Given the description of an element on the screen output the (x, y) to click on. 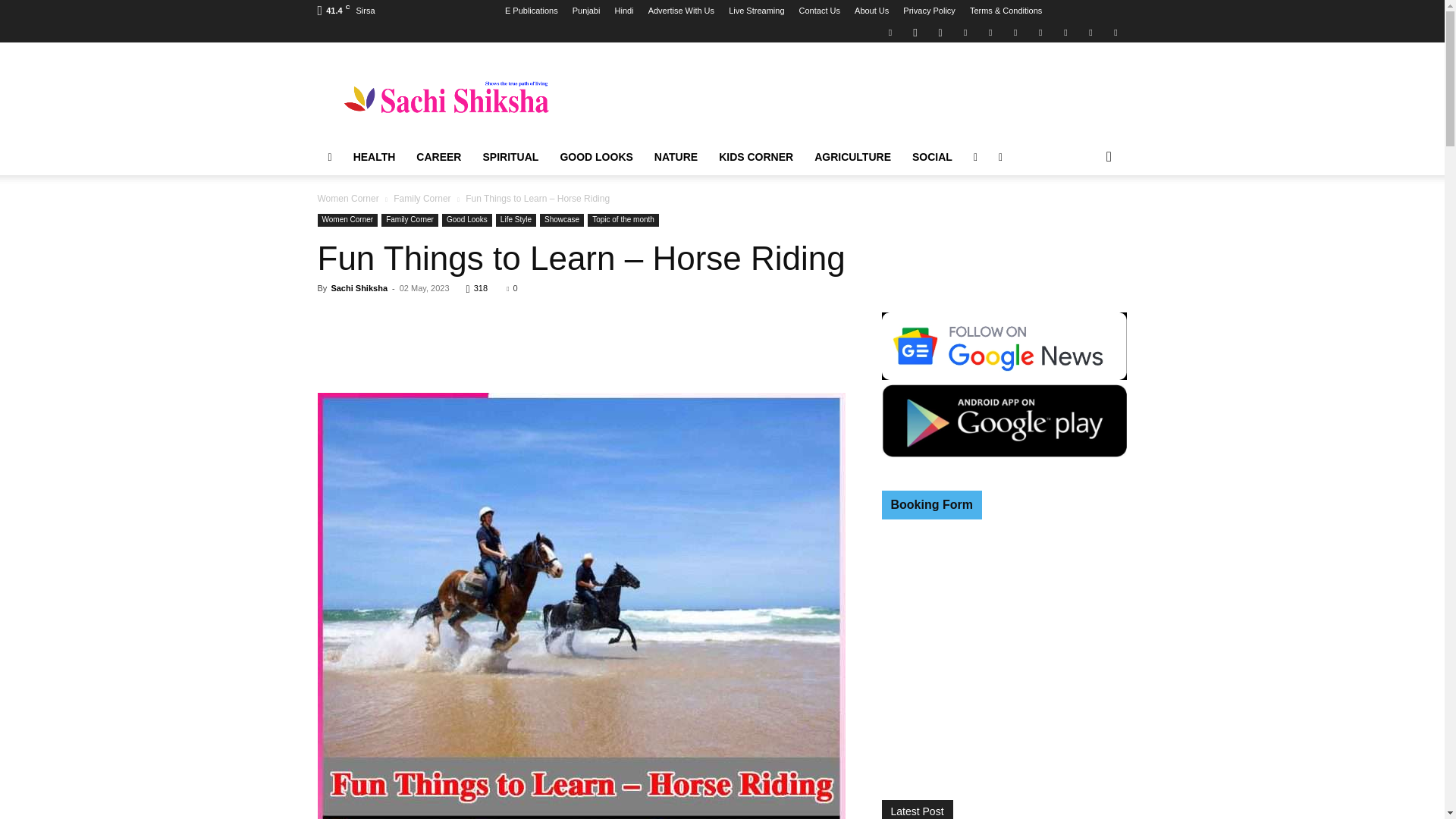
Facebook (890, 31)
Instagram (915, 31)
